Given the description of an element on the screen output the (x, y) to click on. 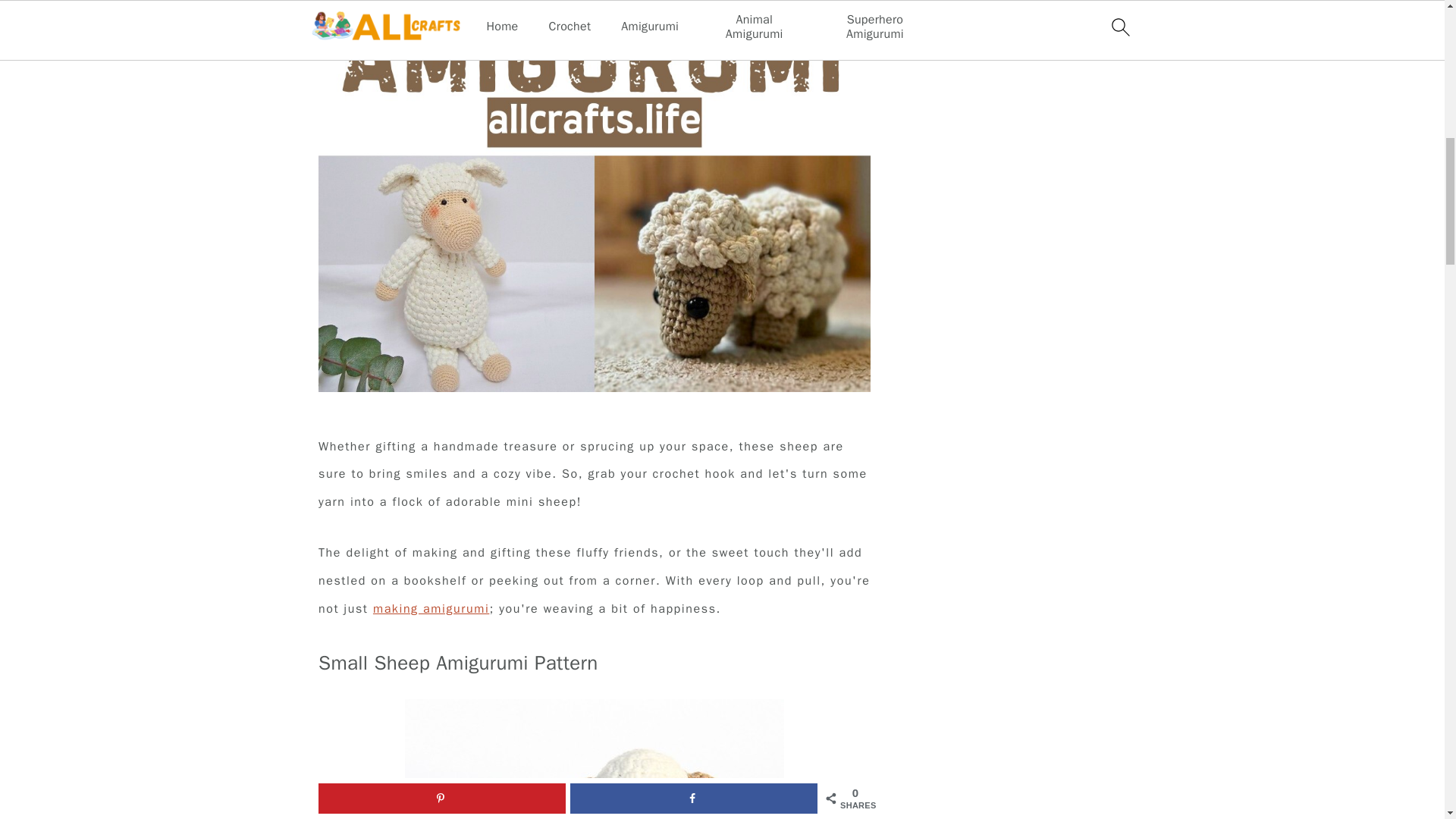
making amigurumi (430, 608)
